Given the description of an element on the screen output the (x, y) to click on. 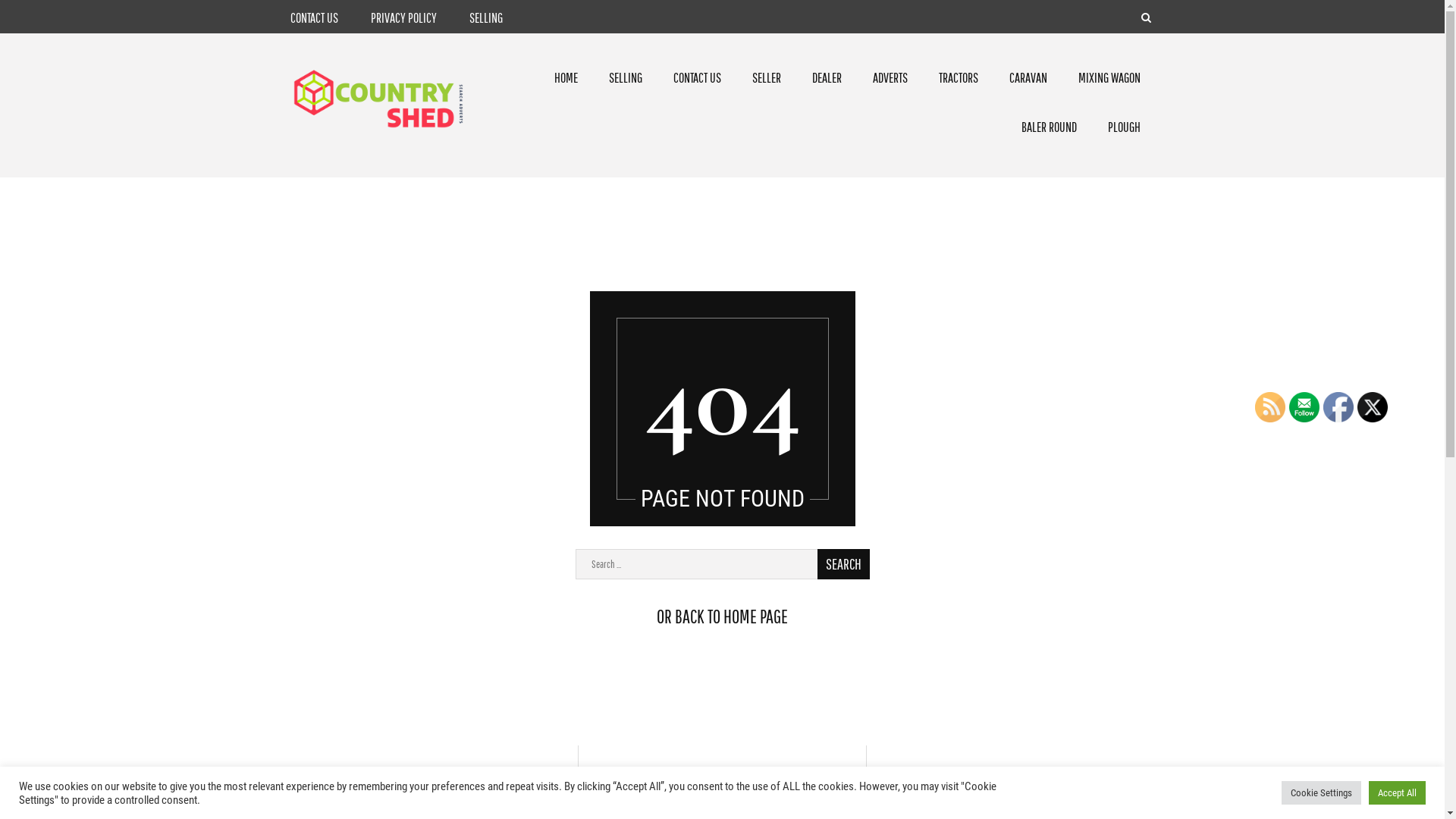
Facebook Element type: hover (1338, 407)
SELLING Element type: text (625, 77)
PRIVACY POLICY Element type: text (403, 17)
BALER ROUND Element type: text (1049, 126)
MIXING WAGON Element type: text (1108, 77)
SELLER Element type: text (765, 77)
Accept All Element type: text (1396, 792)
Cookie Settings Element type: text (1321, 792)
CARAVAN Element type: text (1027, 77)
Follow by Email Element type: hover (1304, 407)
CONTACT US Element type: text (313, 17)
RSS Element type: hover (1270, 407)
OR BACK TO HOME PAGE Element type: text (721, 616)
DEALER Element type: text (826, 77)
Search Element type: text (1122, 53)
Twitter Element type: hover (1372, 407)
PLOUGH Element type: text (1123, 126)
TRACTORS Element type: text (957, 77)
ADVERTS Element type: text (890, 77)
Search Element type: text (843, 564)
CONTACT US Element type: text (696, 77)
SELLING Element type: text (485, 17)
HOME Element type: text (565, 77)
